Given the description of an element on the screen output the (x, y) to click on. 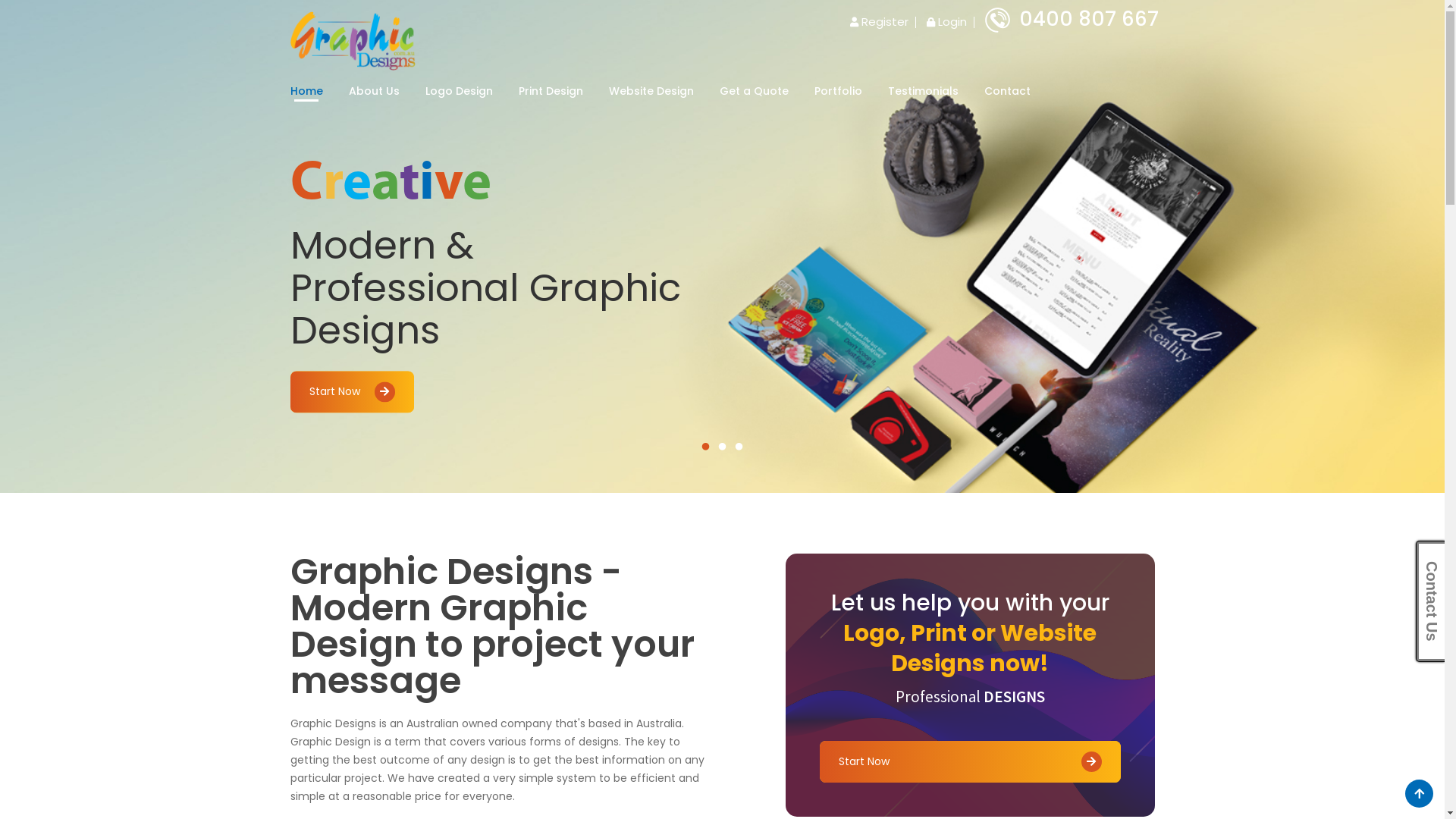
Logo Design Element type: text (458, 90)
Portfolio Element type: text (838, 90)
2 Element type: text (721, 447)
Start Now Element type: text (969, 761)
0400 807 667 Element type: text (1070, 18)
3 Element type: text (738, 447)
1 Element type: text (704, 447)
Print Design Element type: text (550, 90)
Contact Element type: text (1007, 90)
About Us Element type: text (373, 90)
Testimonials Element type: text (922, 90)
Login Element type: text (946, 21)
Home Element type: text (305, 90)
Graphic designs Element type: hover (351, 39)
Get a Quote Element type: text (752, 90)
Start Now Element type: text (351, 392)
Website Design Element type: text (650, 90)
Register Element type: text (878, 21)
